Given the description of an element on the screen output the (x, y) to click on. 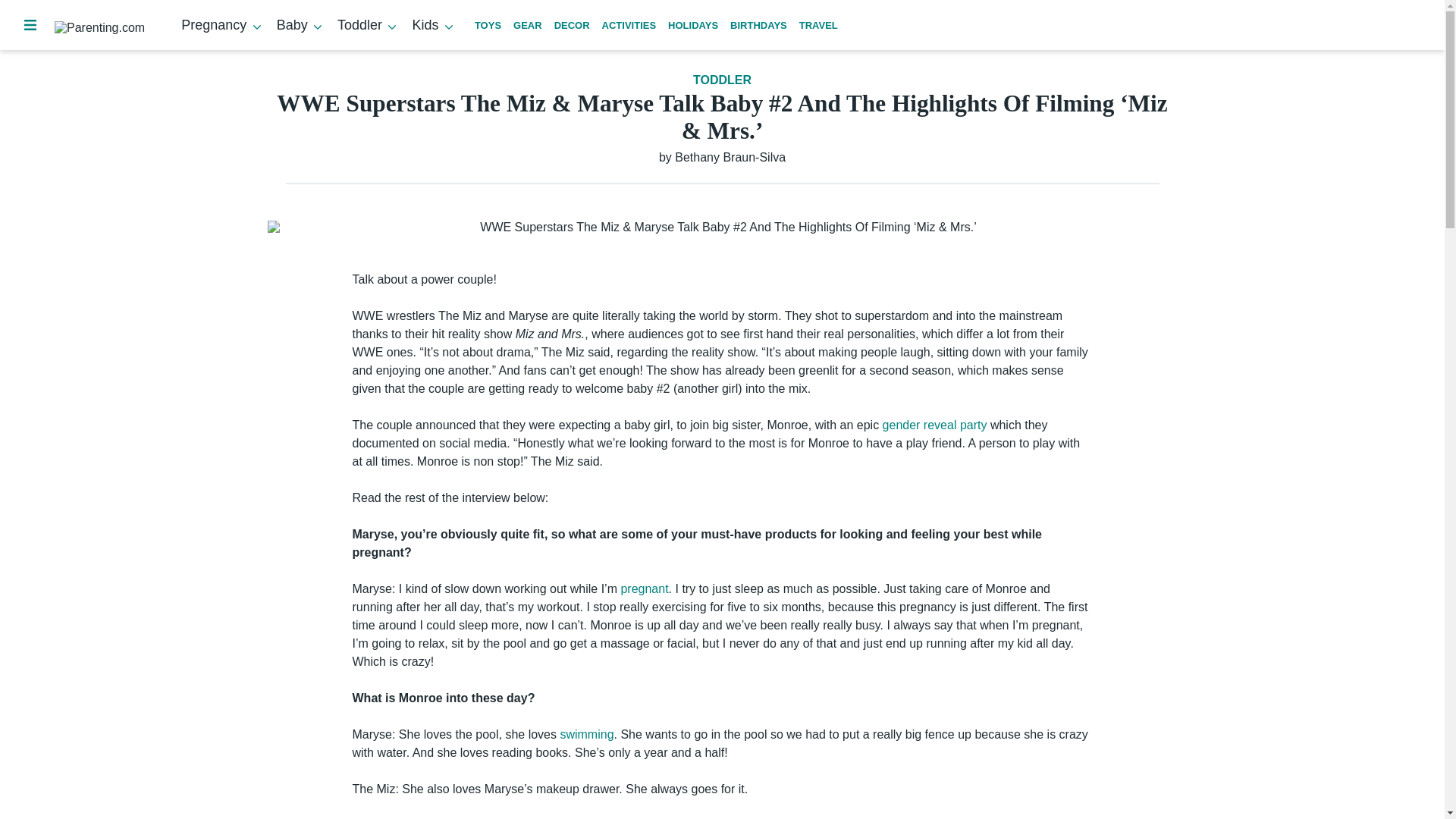
TRAVEL (818, 25)
TOYS (487, 25)
GEAR (527, 25)
DECOR (571, 25)
Toddler (367, 24)
ACTIVITIES (629, 25)
Parenting (440, 48)
BIRTHDAYS (758, 25)
HOLIDAYS (692, 25)
